Given the description of an element on the screen output the (x, y) to click on. 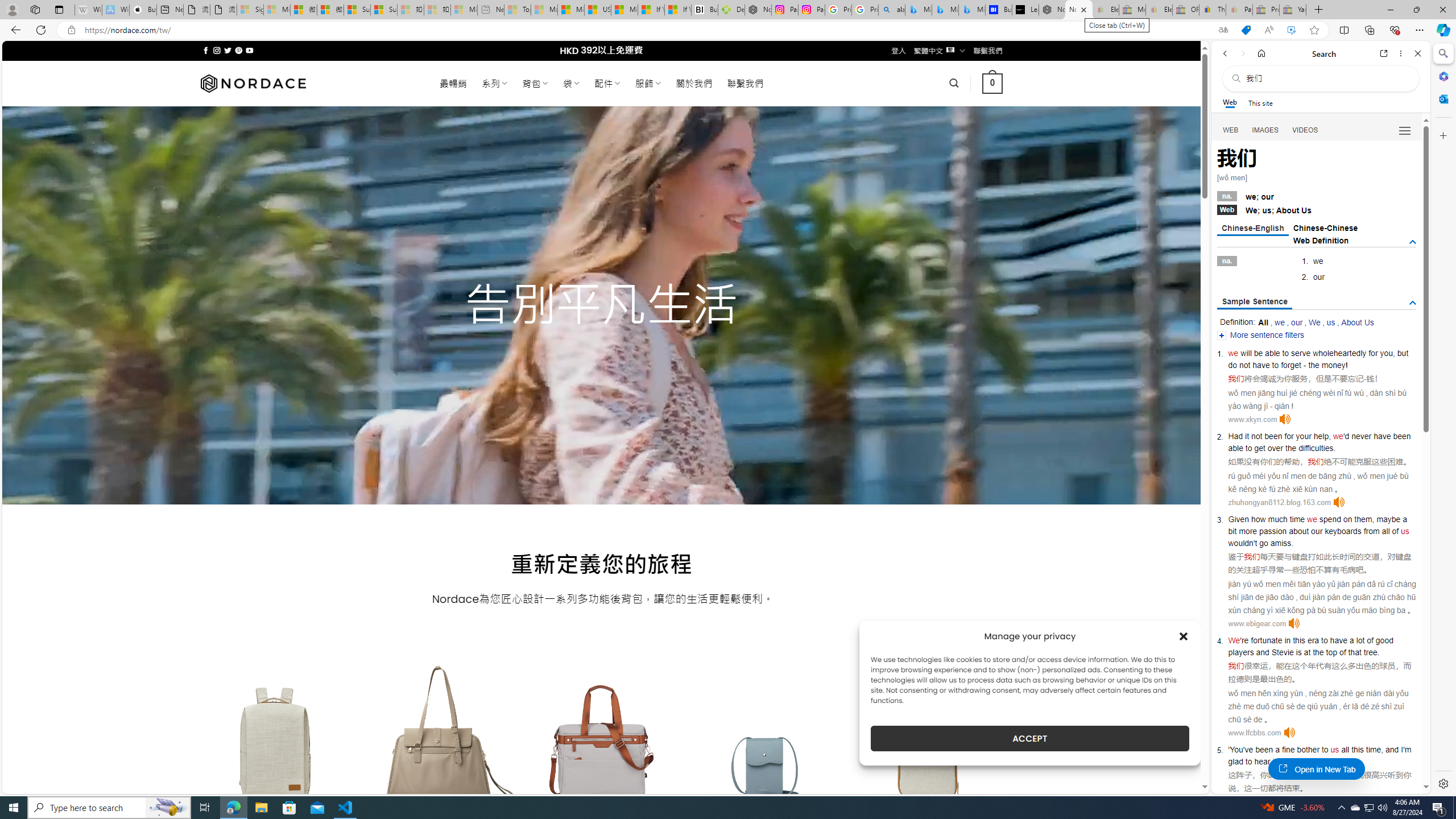
wholeheartedly (1340, 352)
Follow on Instagram (216, 50)
over (1275, 447)
Chinese-English (1252, 228)
